Given the description of an element on the screen output the (x, y) to click on. 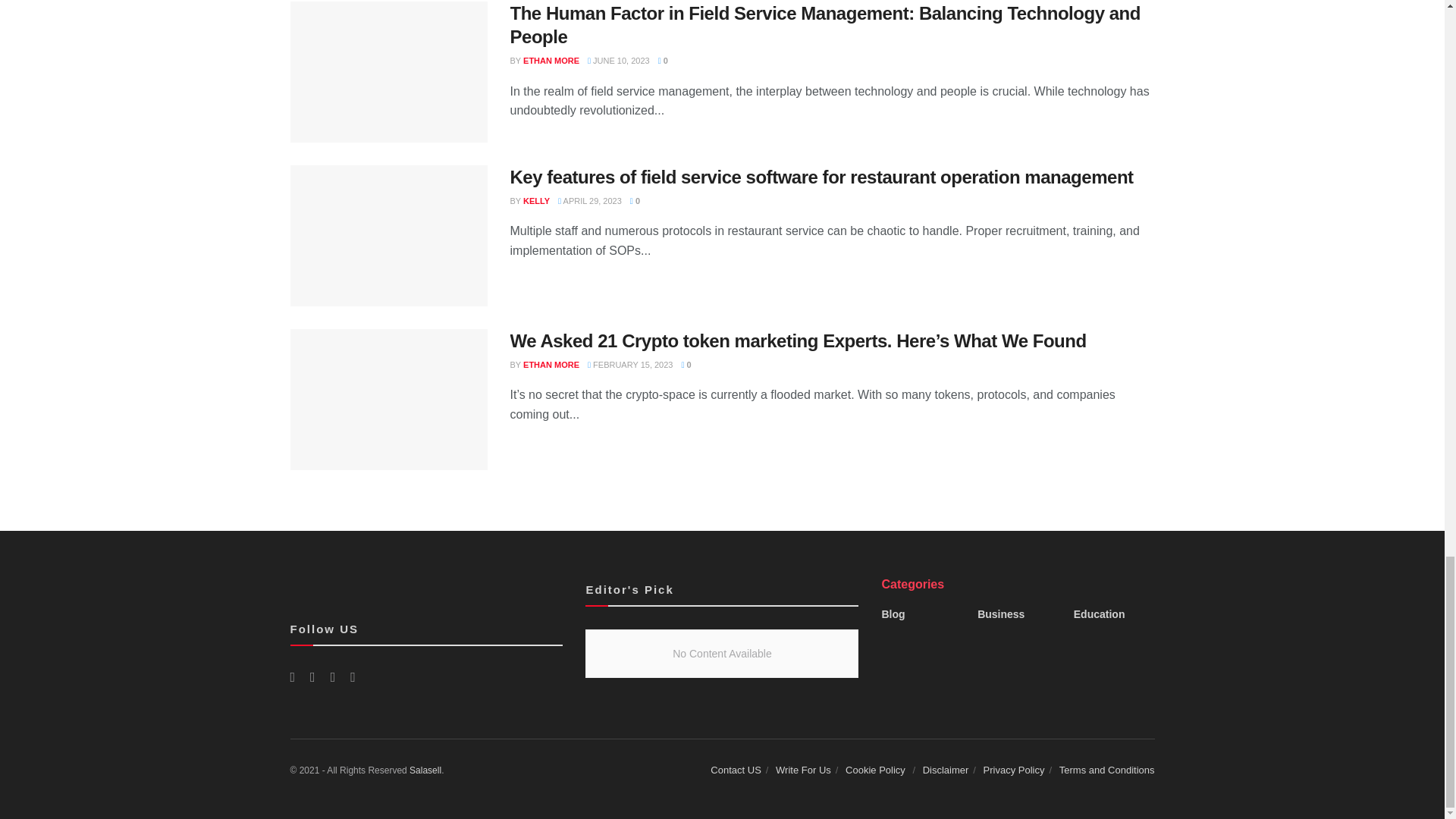
salasell (425, 769)
